Given the description of an element on the screen output the (x, y) to click on. 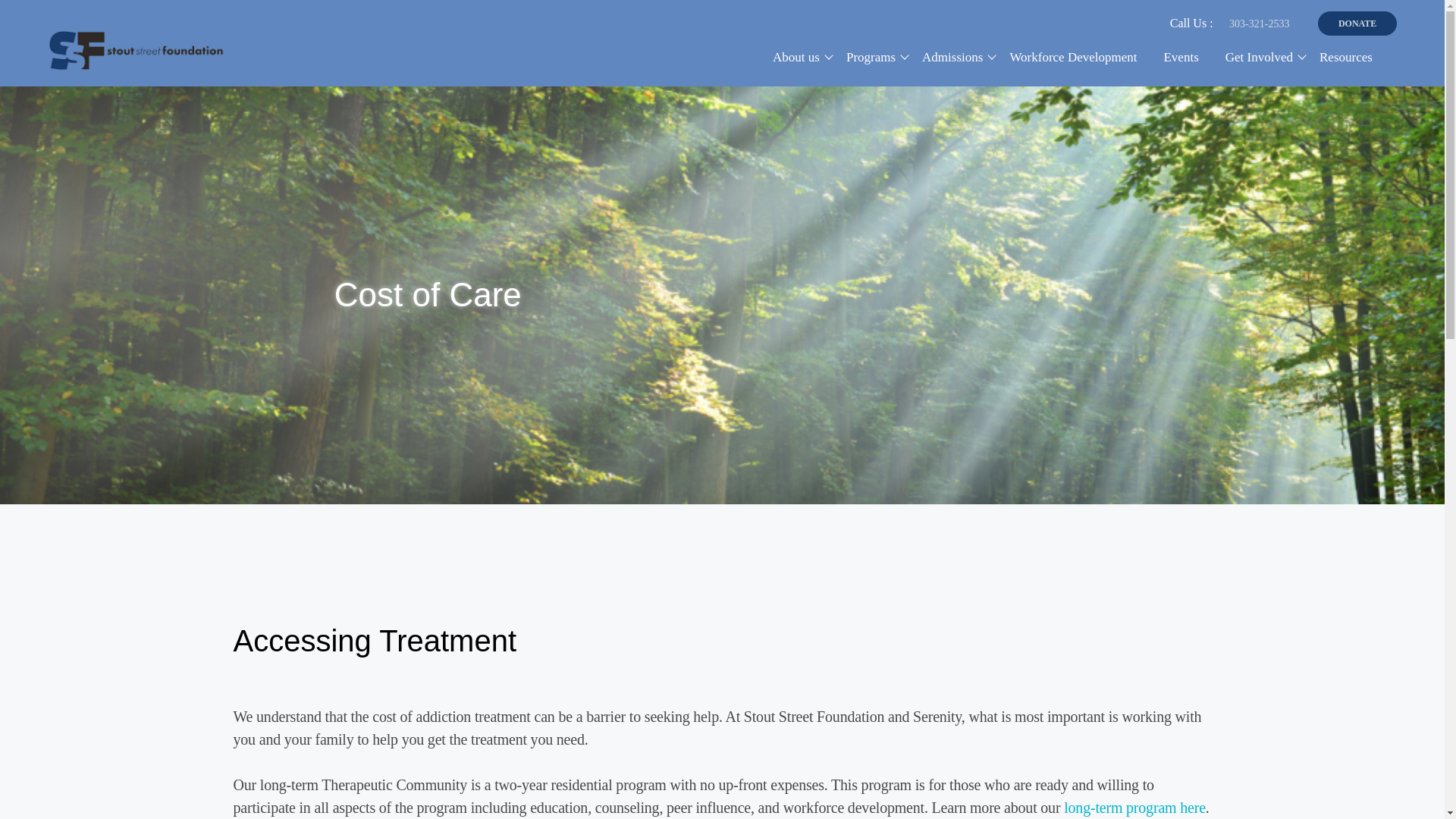
Programs (870, 57)
Workforce Development (1072, 57)
About us (796, 57)
Events (1180, 57)
DONATE (1356, 23)
Admissions (951, 57)
303-321-2533 (1259, 23)
Get Involved (1258, 57)
Resources (1346, 57)
long-term program here (1134, 807)
